Given the description of an element on the screen output the (x, y) to click on. 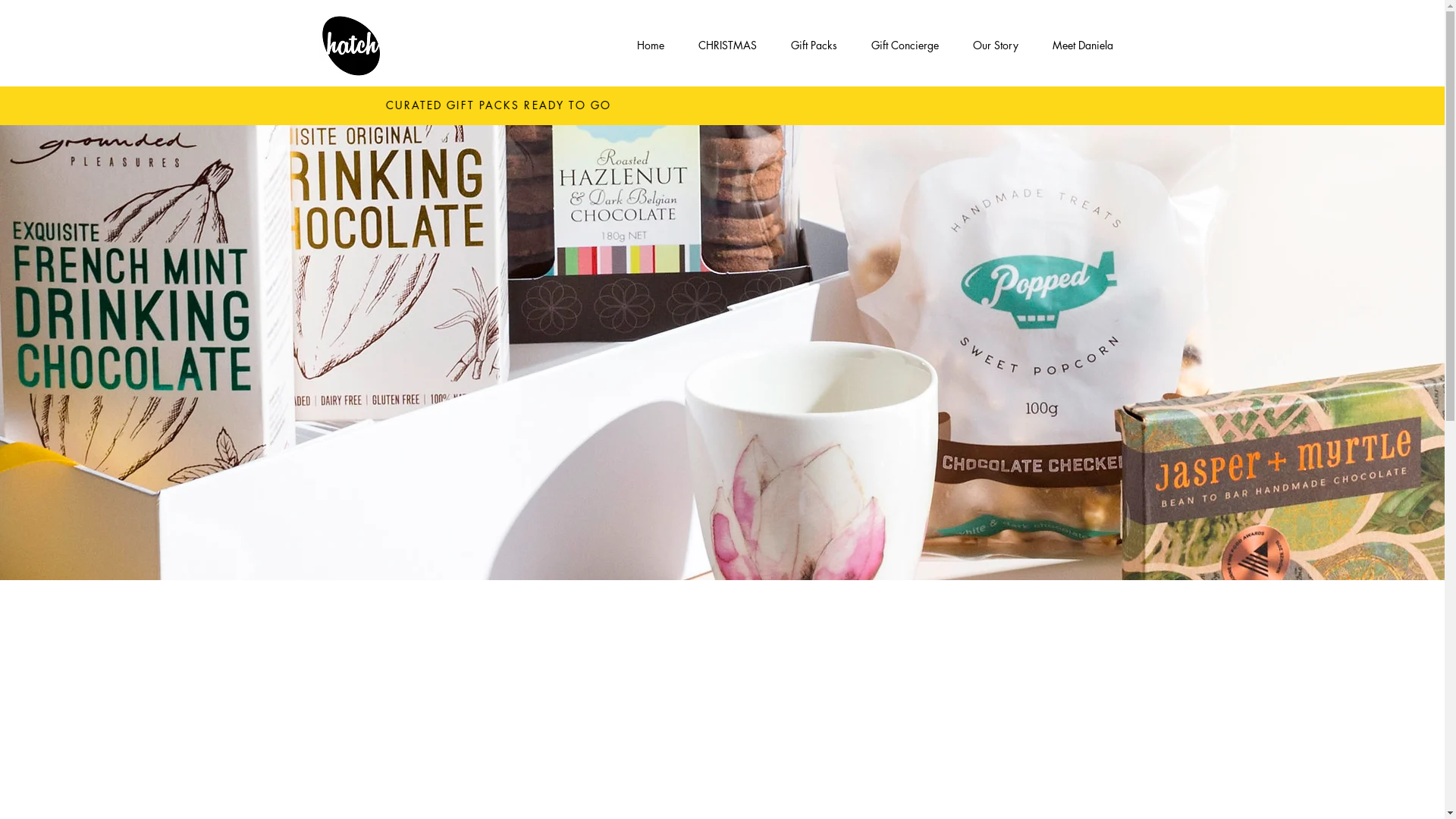
CHRISTMAS Element type: text (726, 45)
Gift Concierge Element type: text (904, 45)
Meet Daniela Element type: text (1082, 45)
Home Element type: text (650, 45)
Our Story Element type: text (995, 45)
Gift Packs Element type: text (813, 45)
